Given the description of an element on the screen output the (x, y) to click on. 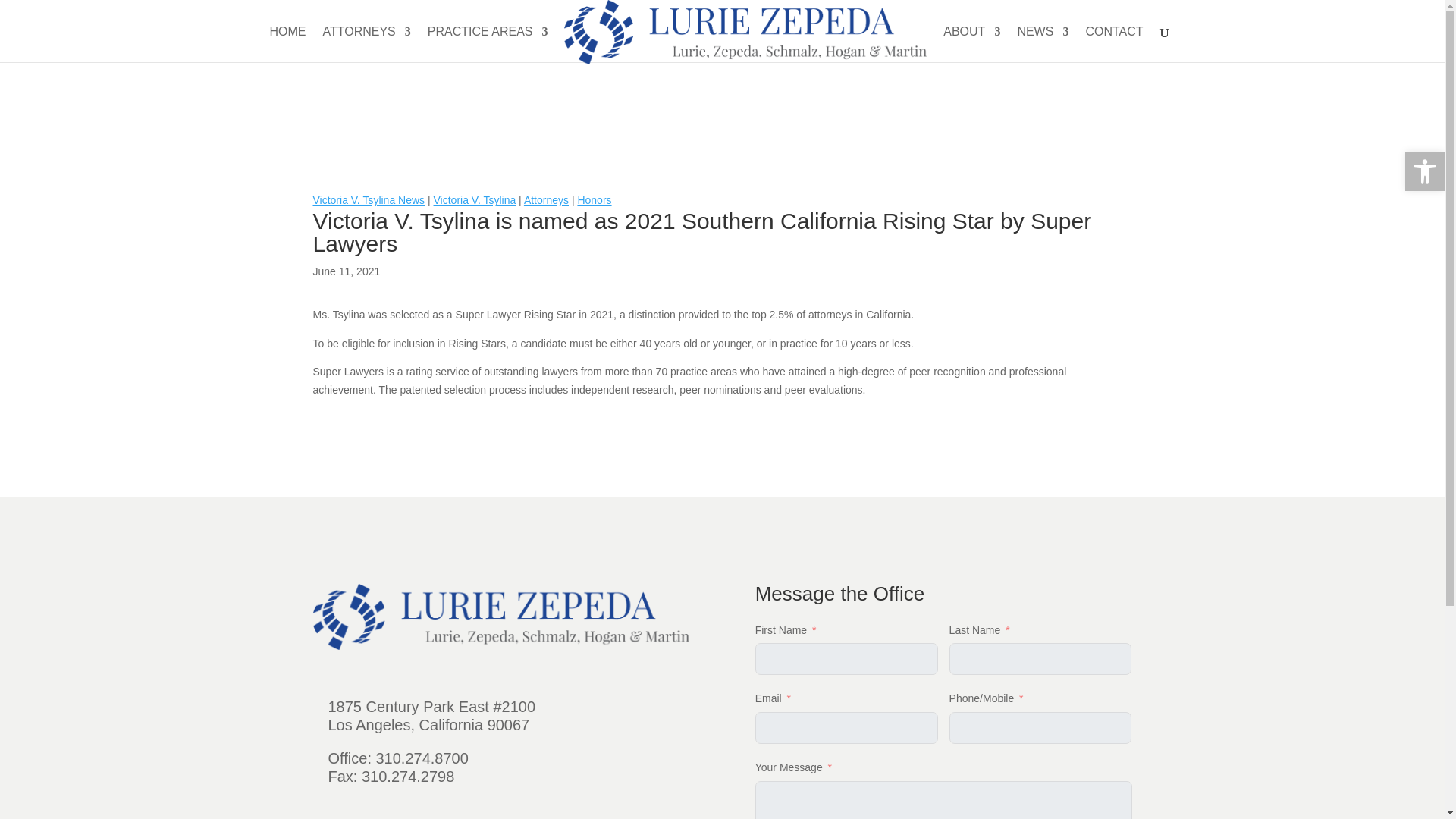
Accessibility Tools (1424, 170)
PRACTICE AREAS (488, 43)
ATTORNEYS (365, 43)
HOME (287, 43)
